Given the description of an element on the screen output the (x, y) to click on. 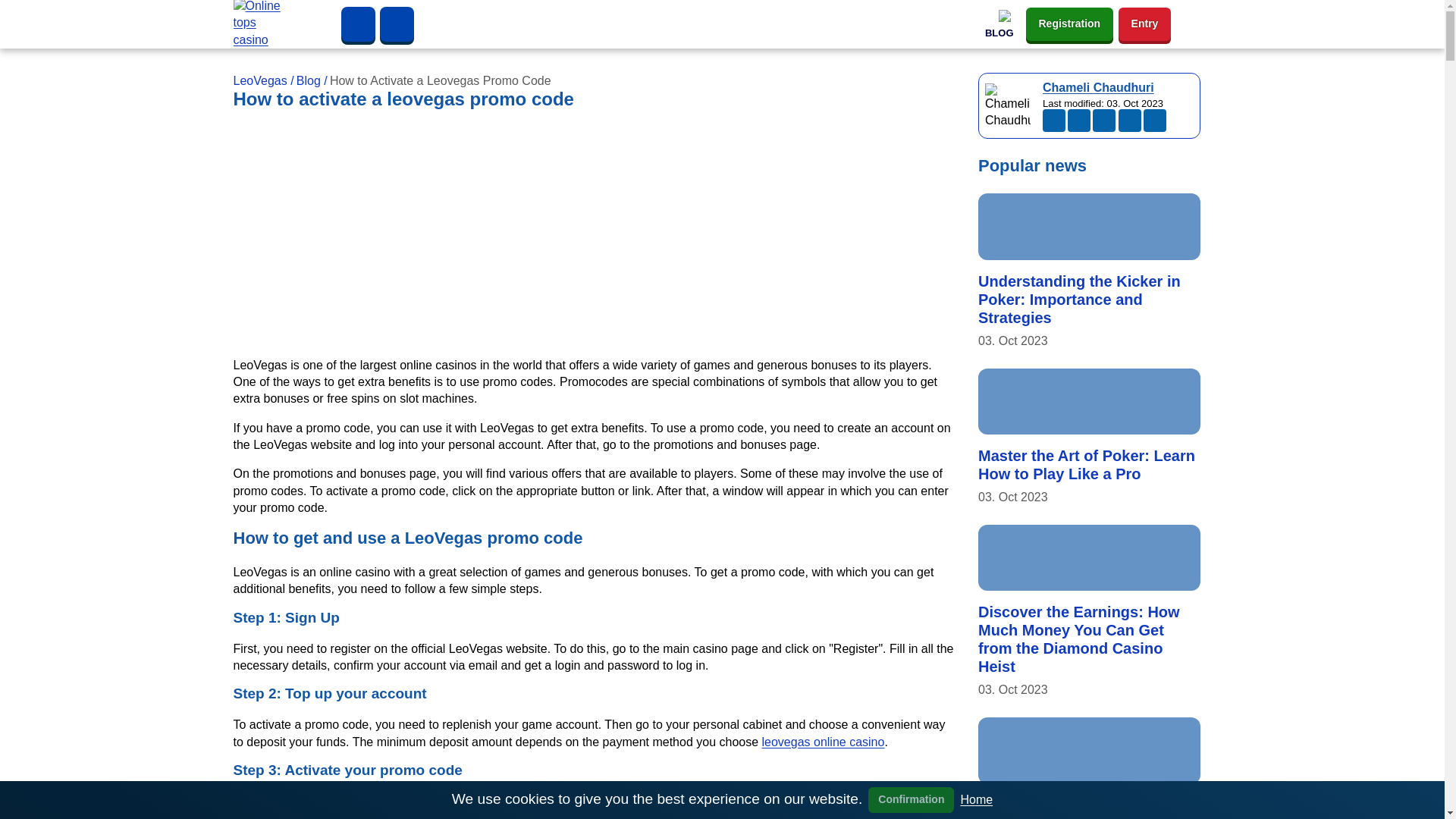
Understanding the Kicker in Poker: Importance and Strategies (1088, 226)
leovegas online casino (823, 741)
Chameli Chaudhuri (1098, 87)
2024 Presidential Election: Predictions and Odds (1074, 807)
Registration (1069, 23)
Understanding the Kicker in Poker: Importance and Strategies (1079, 298)
2024 Presidential Election: Predictions and Odds (1088, 750)
Master the Art of Poker: Learn How to Play Like a Pro (1086, 464)
Master the Art of Poker: Learn How to Play Like a Pro (1088, 401)
Entry (1145, 23)
